Given the description of an element on the screen output the (x, y) to click on. 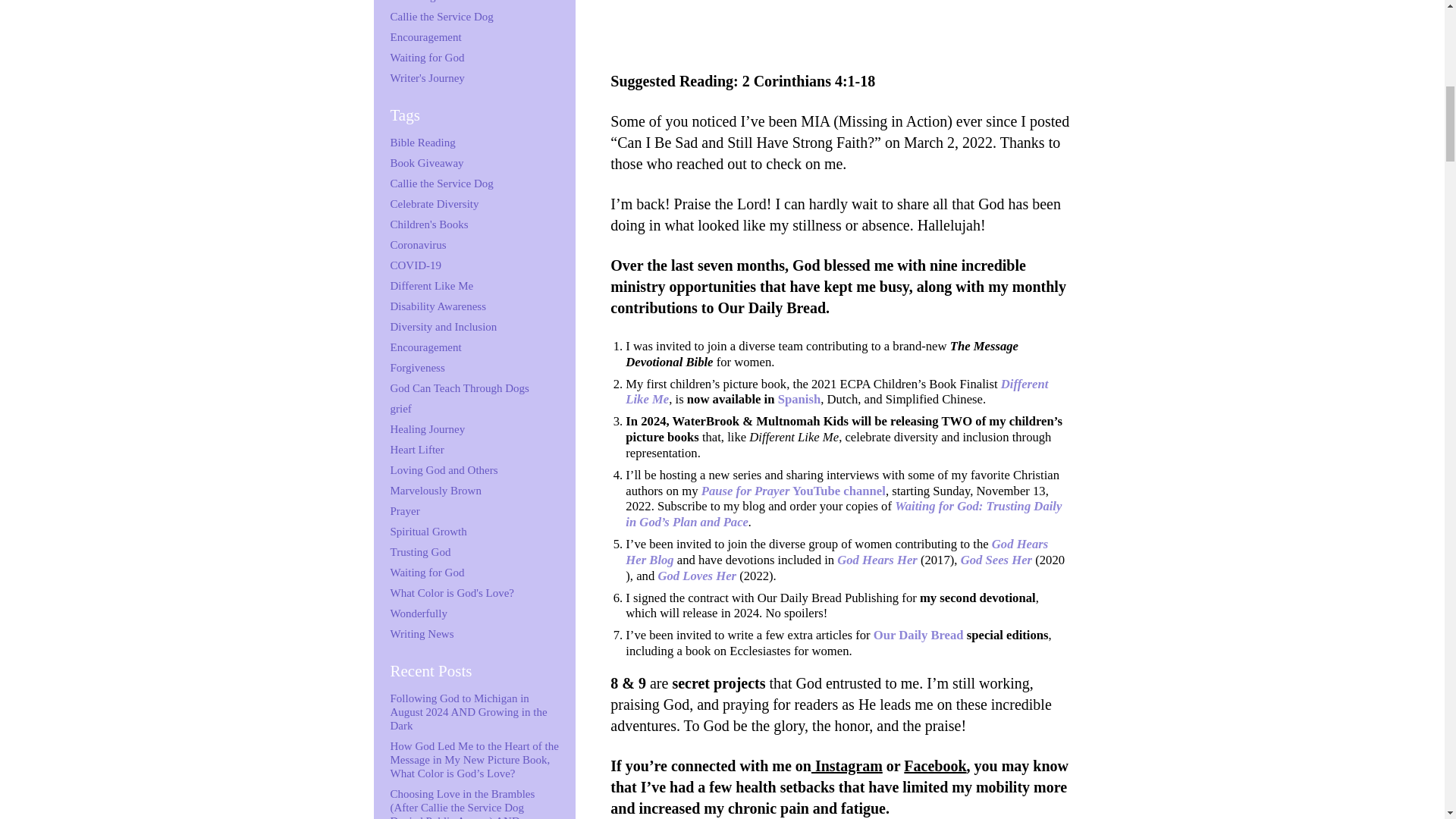
Different Like Me (837, 391)
Spanish (799, 399)
God Hears Her Blog (837, 552)
Pause for Prayer YouTube channel (793, 490)
God Hears Her (878, 559)
